Given the description of an element on the screen output the (x, y) to click on. 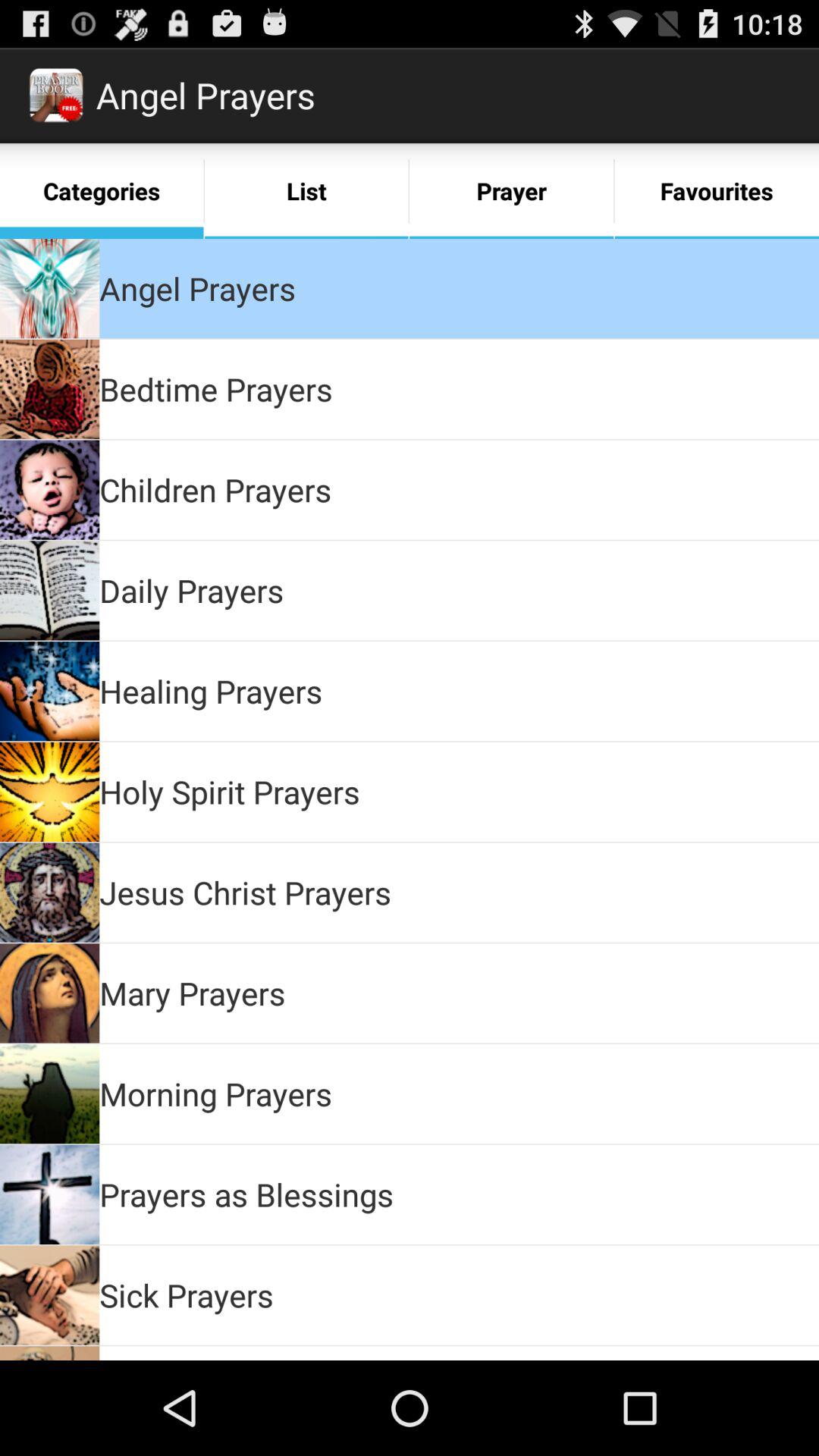
tap bedtime prayers item (215, 388)
